Given the description of an element on the screen output the (x, y) to click on. 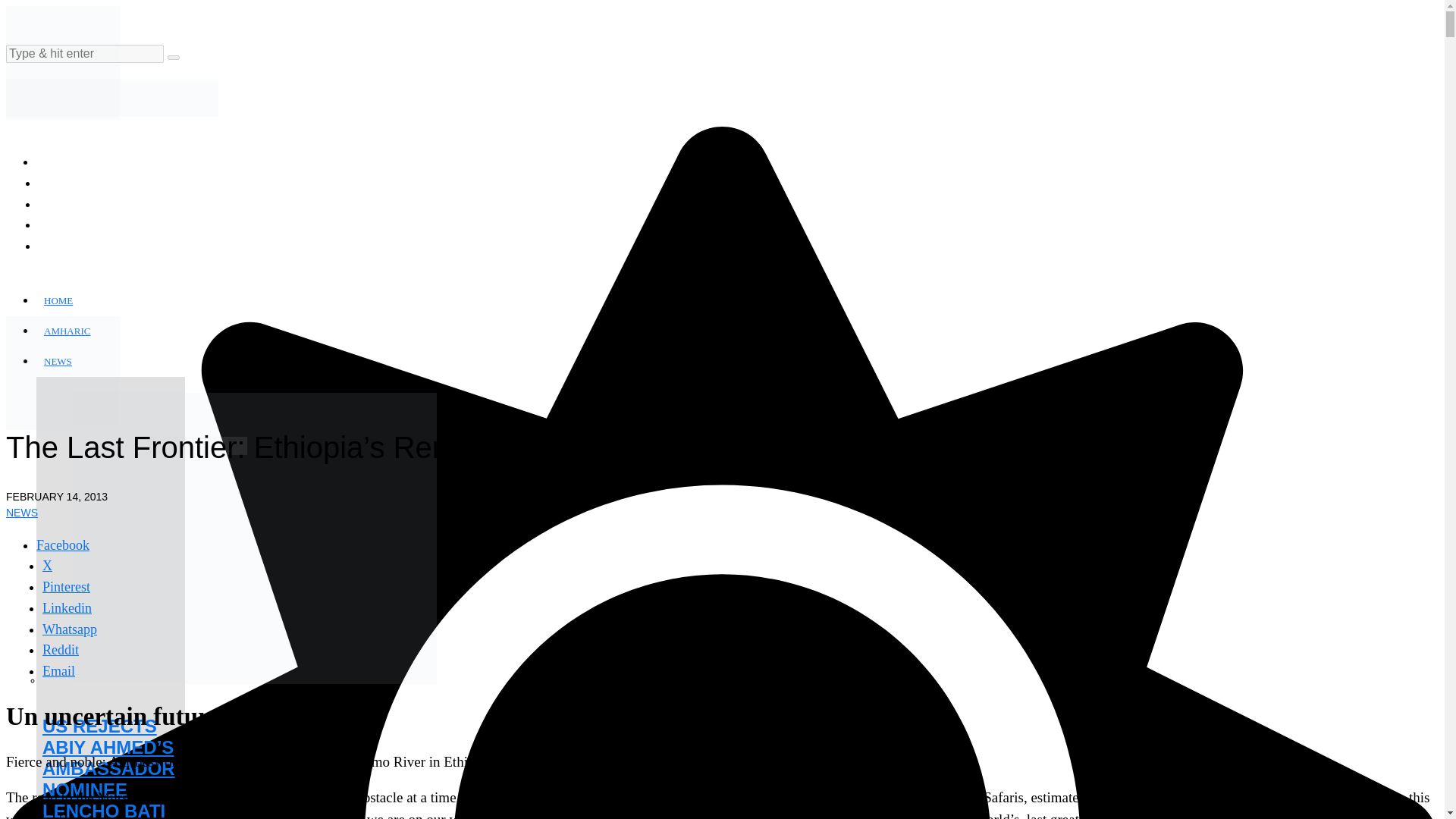
AMHARIC (68, 330)
Go (173, 57)
HOME (59, 300)
NEWS (58, 360)
